Given the description of an element on the screen output the (x, y) to click on. 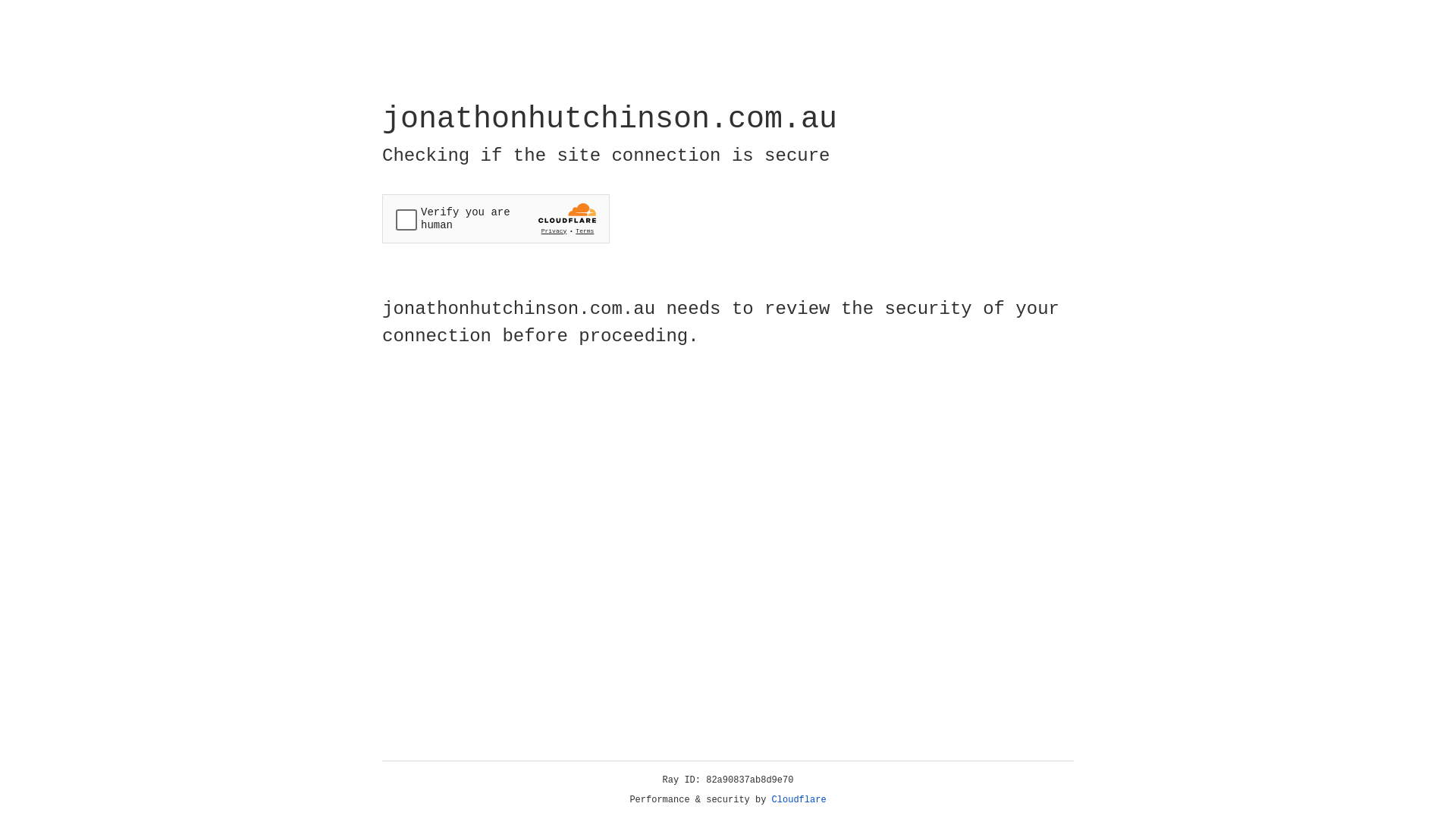
Widget containing a Cloudflare security challenge Element type: hover (495, 218)
Cloudflare Element type: text (798, 799)
